Given the description of an element on the screen output the (x, y) to click on. 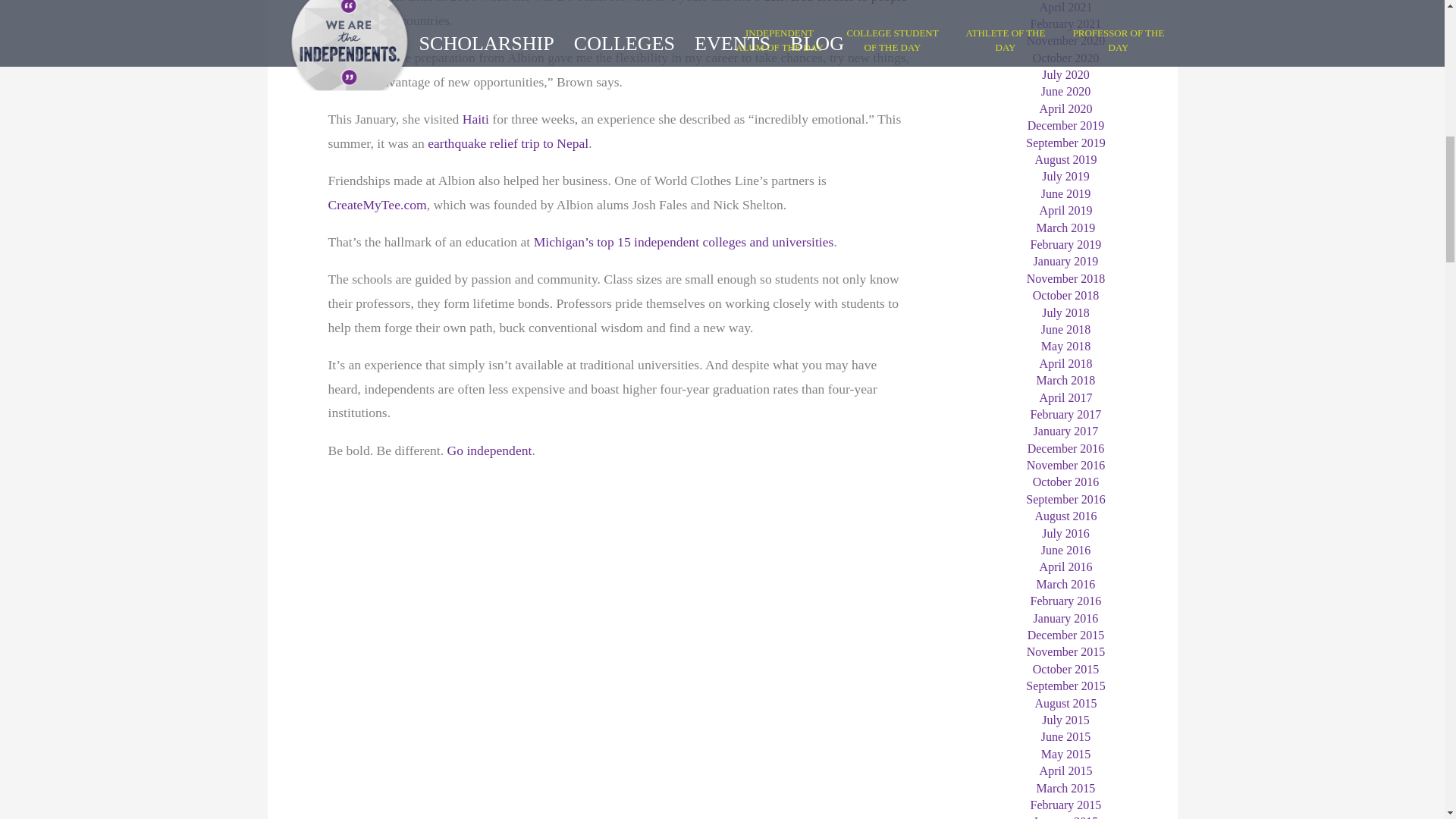
CreateMyTee.com (376, 204)
Go independent (489, 450)
delivered clothes to people in need (616, 13)
Colleges (684, 241)
Haiti (476, 118)
earthquake relief trip to Nepal (508, 142)
CreateMyTee.com (376, 204)
We are the Independents (489, 450)
